Given the description of an element on the screen output the (x, y) to click on. 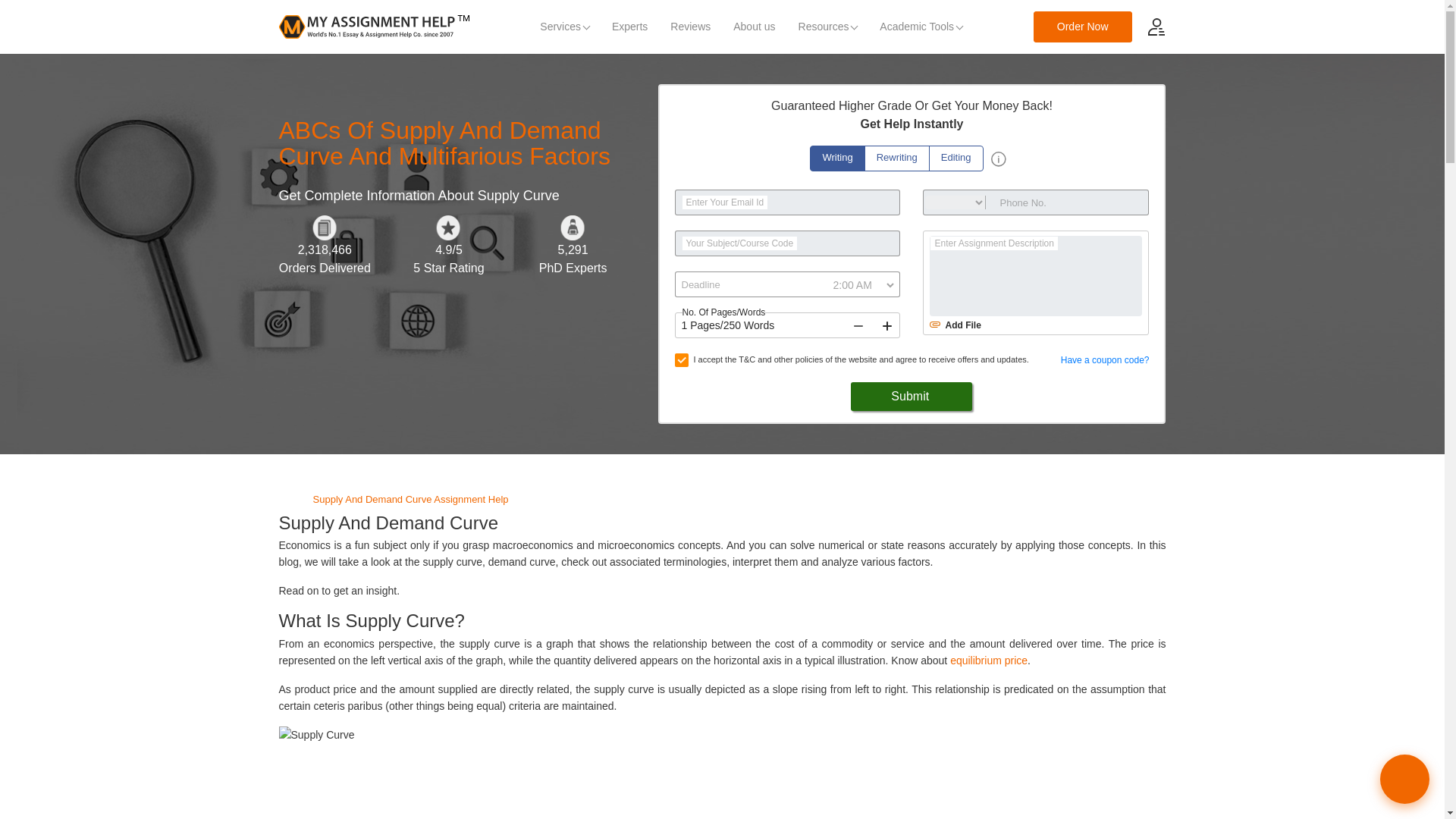
menu (1156, 26)
Reviews (690, 26)
About us (754, 26)
Resources (828, 26)
Experts (629, 26)
Info (998, 159)
Services (563, 26)
